Given the description of an element on the screen output the (x, y) to click on. 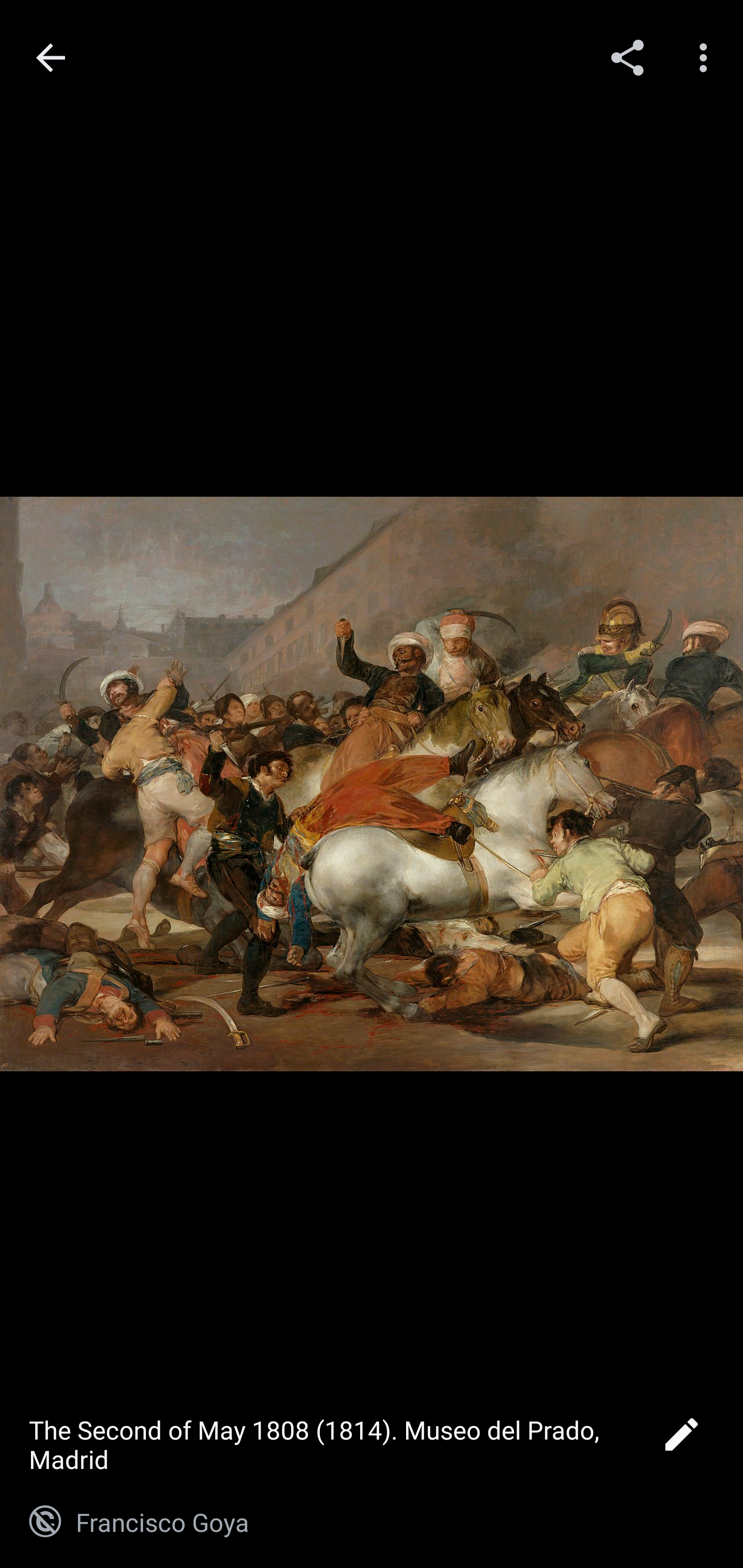
Navigate up (50, 57)
Share (626, 57)
More options (706, 57)
Edit image caption (681, 1439)
Public domain (44, 1521)
